Given the description of an element on the screen output the (x, y) to click on. 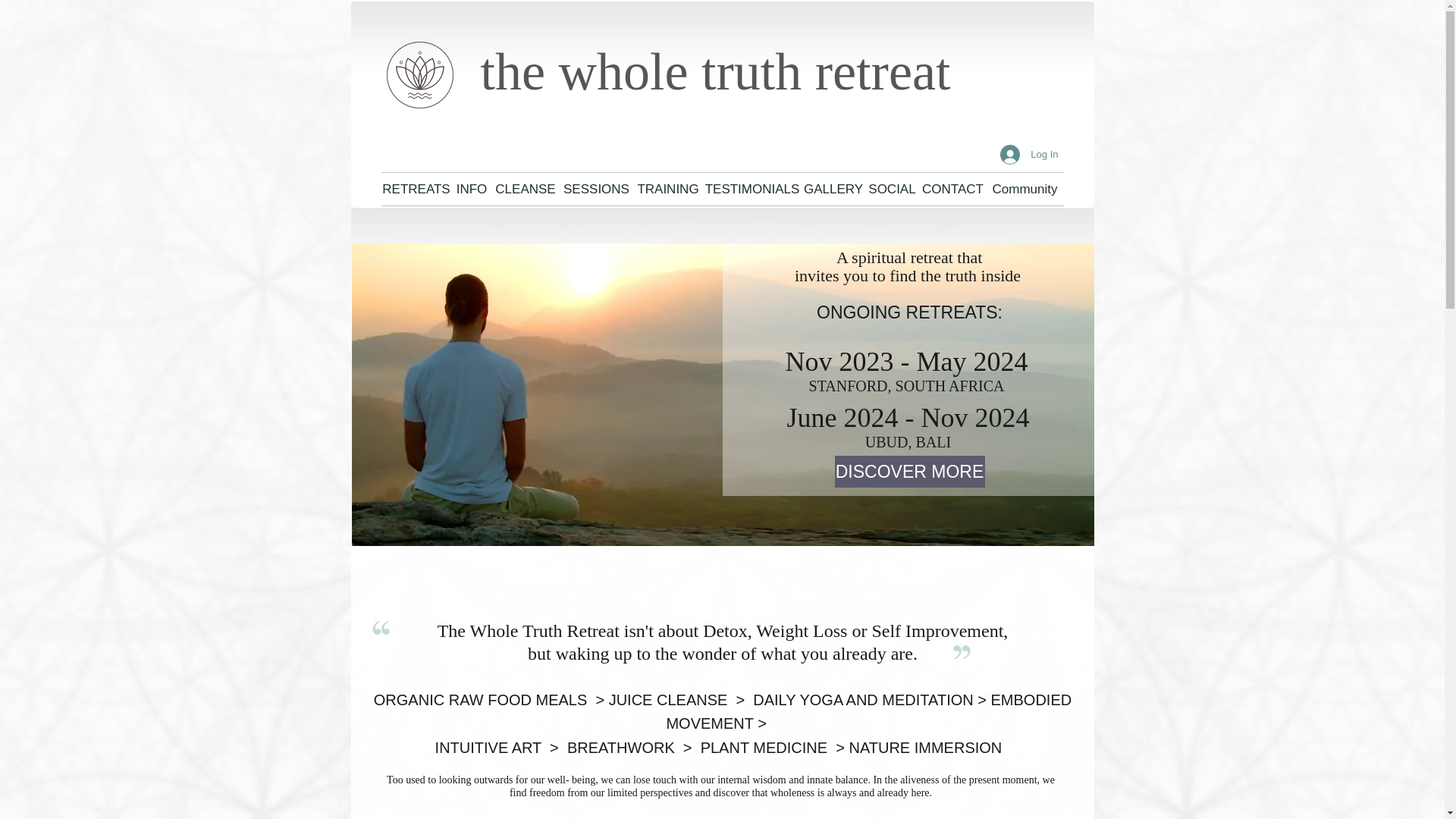
TESTIMONIALS (751, 188)
Community (1023, 188)
TRAINING (668, 188)
Log In (1029, 153)
CONTACT (951, 188)
GALLERY (833, 188)
DISCOVER MORE (909, 471)
